Given the description of an element on the screen output the (x, y) to click on. 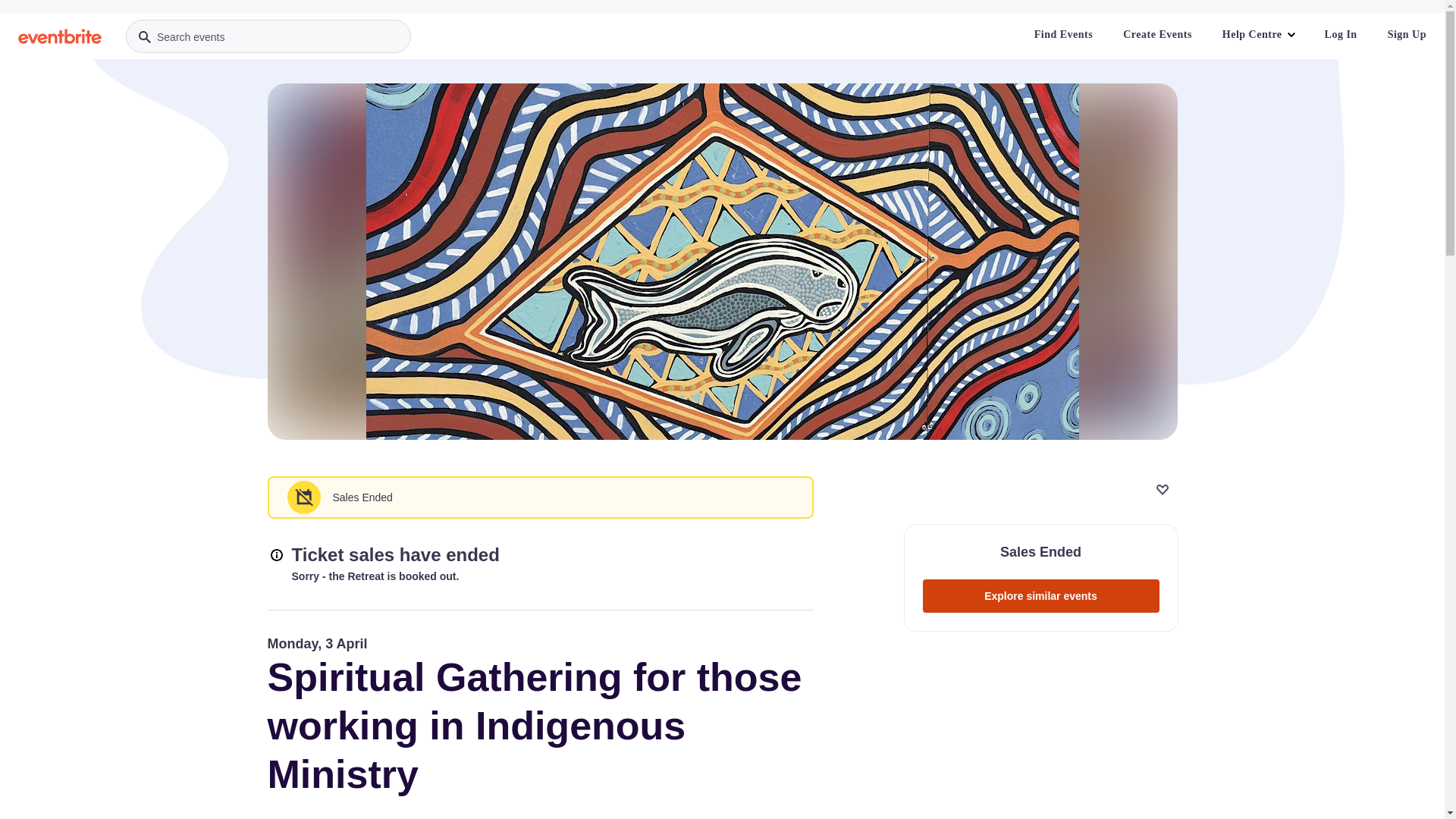
Find Events Element type: text (1063, 34)
Log In Element type: text (1340, 34)
Search events Element type: text (268, 36)
Create Events Element type: text (1157, 34)
Eventbrite Element type: hover (59, 35)
Sign Up Element type: text (1406, 34)
Explore similar events Element type: text (1040, 595)
